Given the description of an element on the screen output the (x, y) to click on. 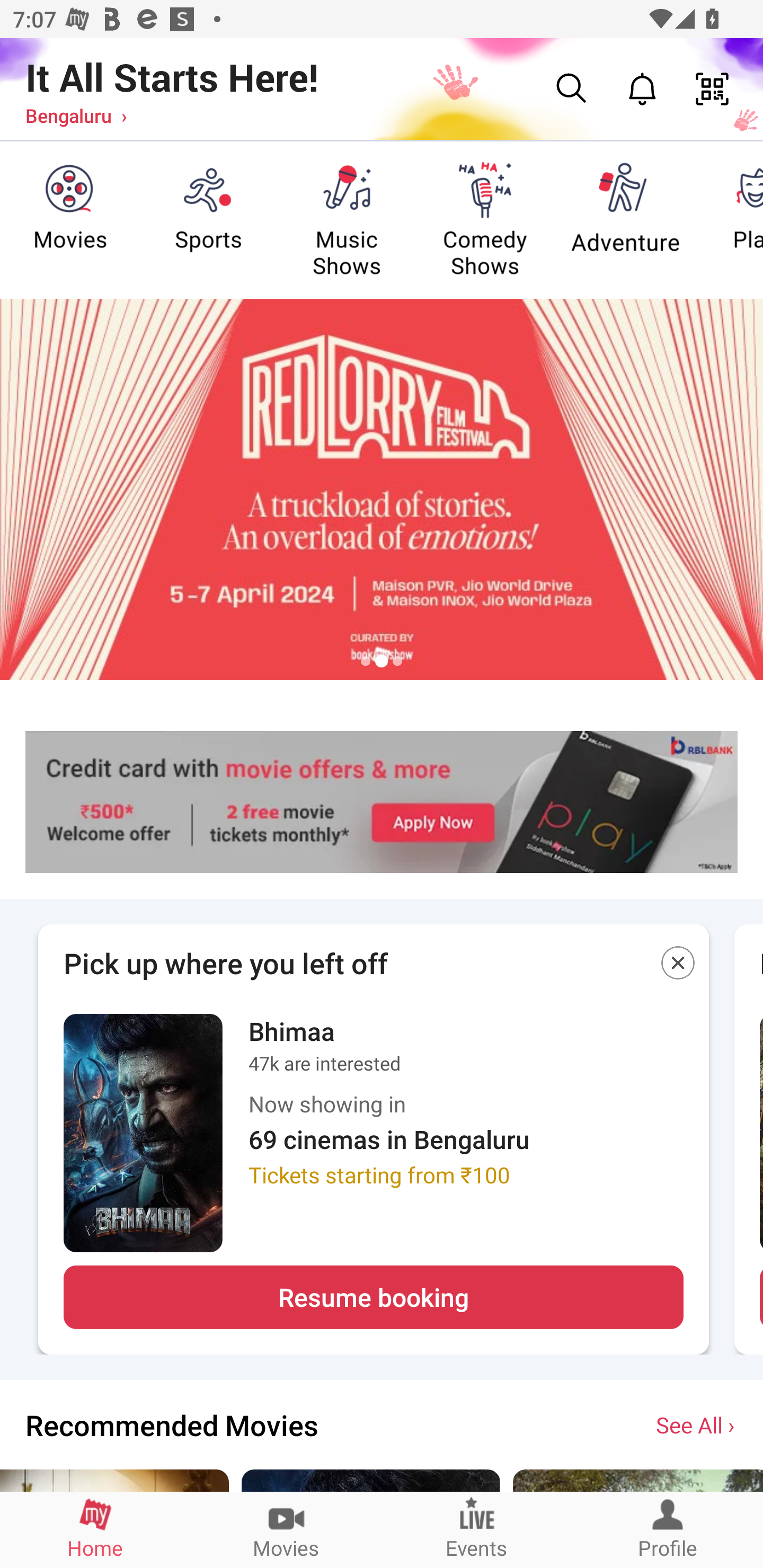
Bengaluru  › (76, 114)
  (678, 966)
Resume booking (373, 1297)
See All › (696, 1424)
Home (95, 1529)
Movies (285, 1529)
Events (476, 1529)
Profile (667, 1529)
